Given the description of an element on the screen output the (x, y) to click on. 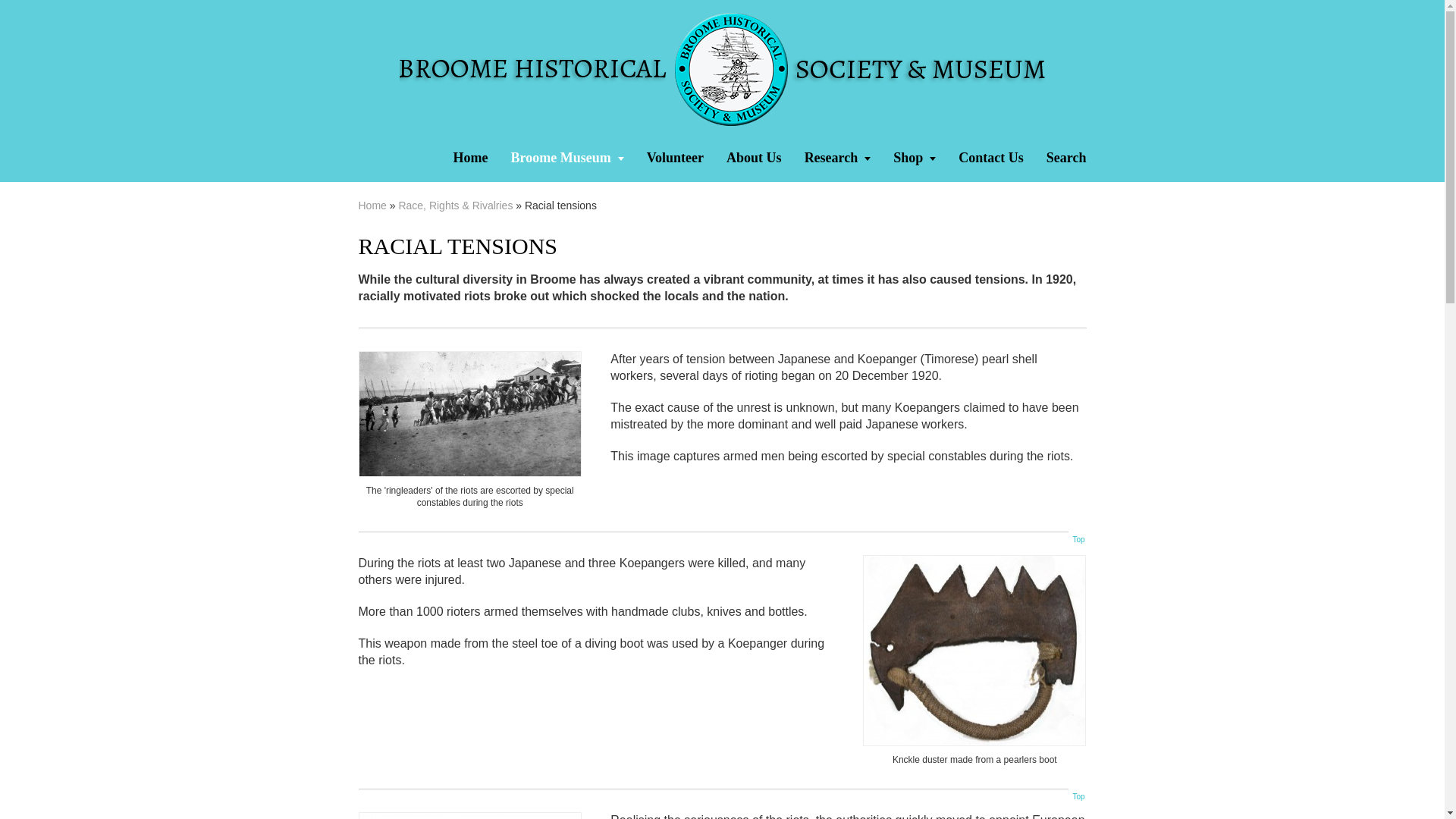
The Broome riot in 1920 (469, 413)
Volunteer (674, 158)
Police Baton (469, 815)
Shop (914, 158)
Home (470, 158)
Research (837, 158)
About Us (753, 158)
Broome Museum (566, 158)
Contact Us (991, 158)
Knuckle duster made from a pearlers boot  (974, 650)
